Given the description of an element on the screen output the (x, y) to click on. 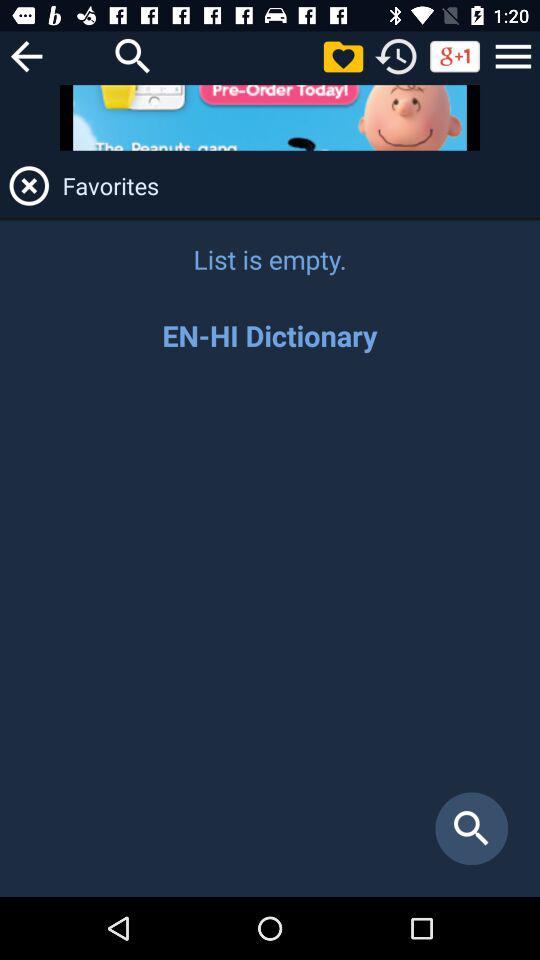
advertisement (270, 117)
